Given the description of an element on the screen output the (x, y) to click on. 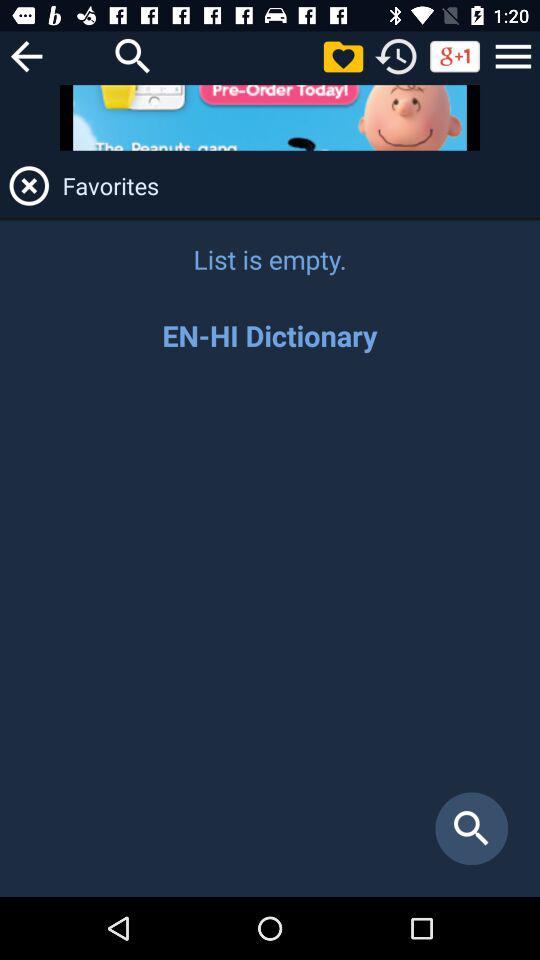
advertisement (270, 117)
